Given the description of an element on the screen output the (x, y) to click on. 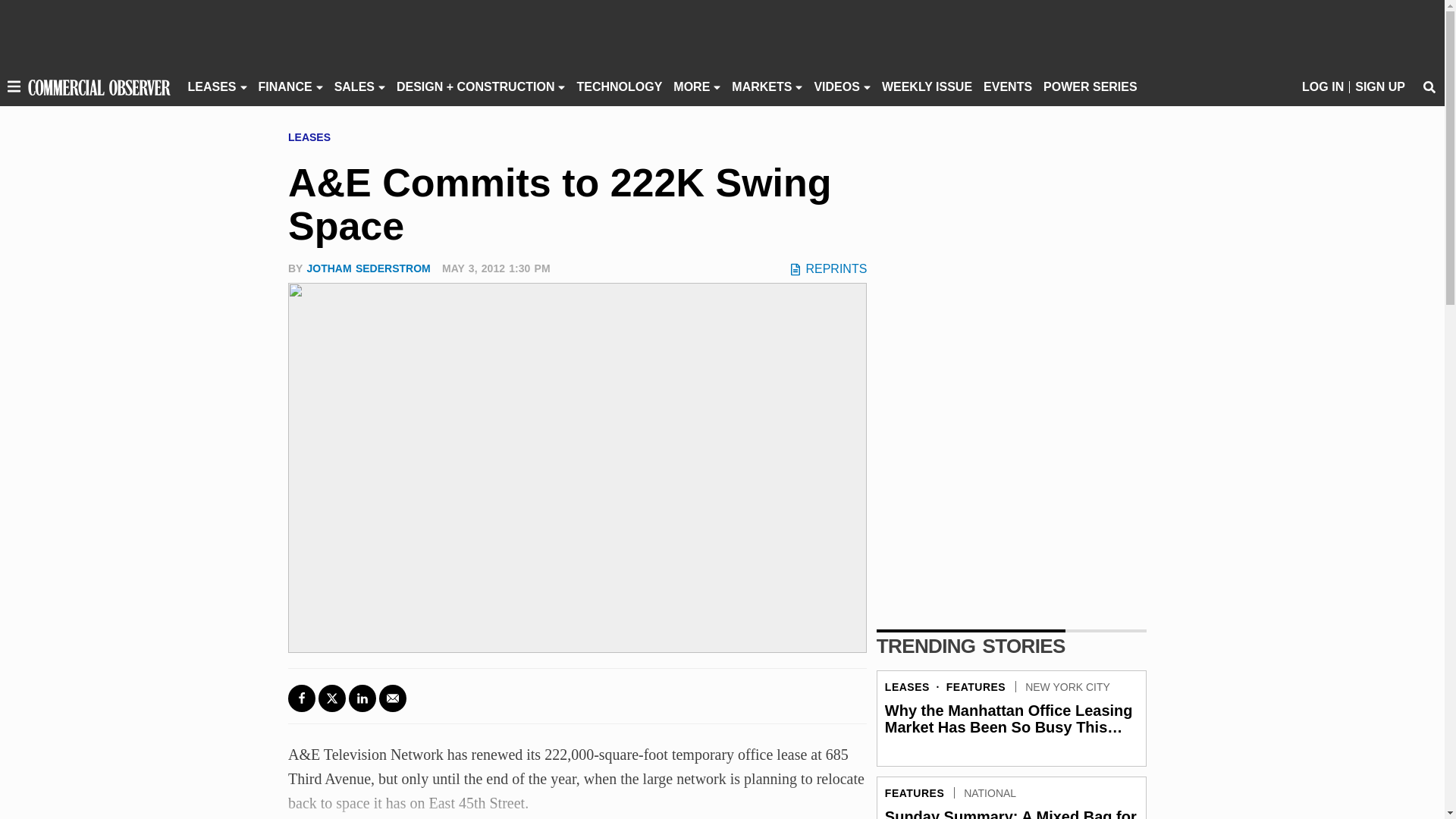
MORE (691, 86)
FINANCE (286, 86)
Share on Facebook (301, 697)
LEASES (211, 86)
TECHNOLOGY (619, 86)
SALES (354, 86)
Tweet (332, 697)
Send email (392, 697)
Commercial Observer Home (98, 86)
Share on LinkedIn (362, 697)
